Given the description of an element on the screen output the (x, y) to click on. 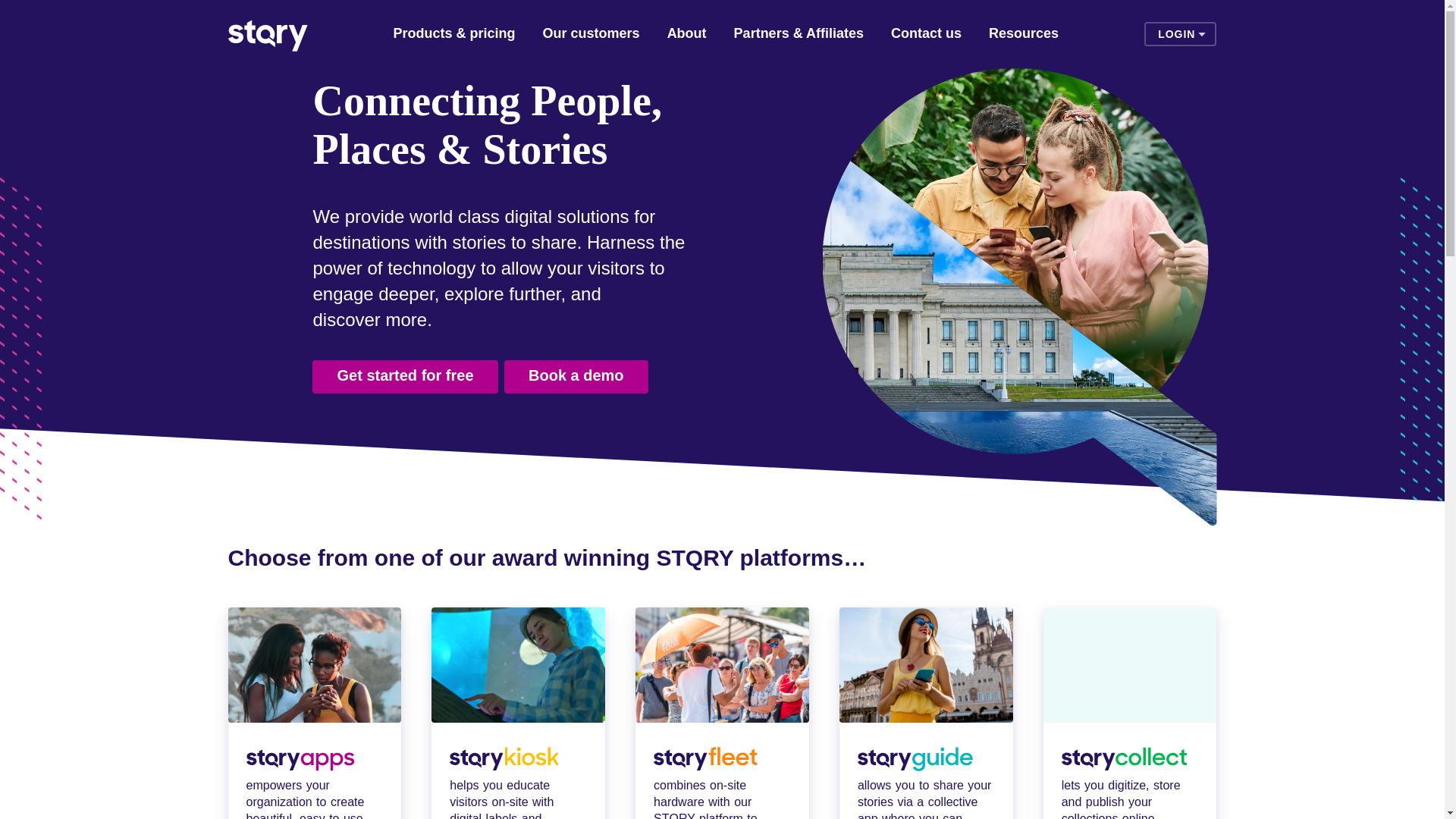
Book a demo (575, 376)
Get started for free (405, 376)
Contact us (925, 35)
Stqry (267, 33)
